Given the description of an element on the screen output the (x, y) to click on. 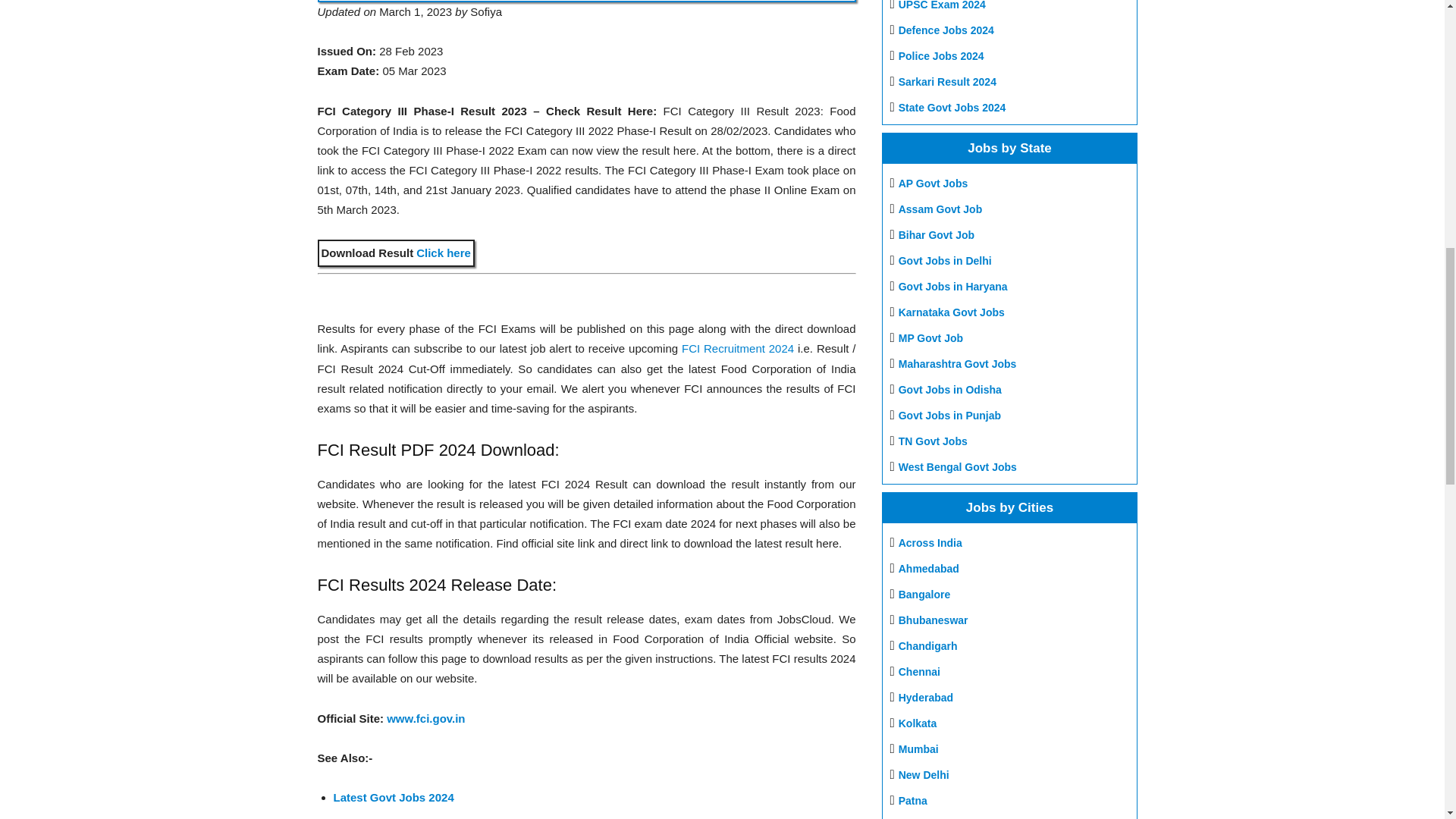
Jobs in Hyderabad (925, 697)
Jobs in Bhubaneswar (933, 620)
Jobs in Chandigarh (928, 645)
Jobs in Kolkata (917, 723)
Jobs Across India (930, 542)
Jobs in Chennai (919, 671)
Jobs in Bangalore (924, 594)
Jobs in Ahmedabad (928, 568)
Jobs in Mumbai (918, 748)
